Given the description of an element on the screen output the (x, y) to click on. 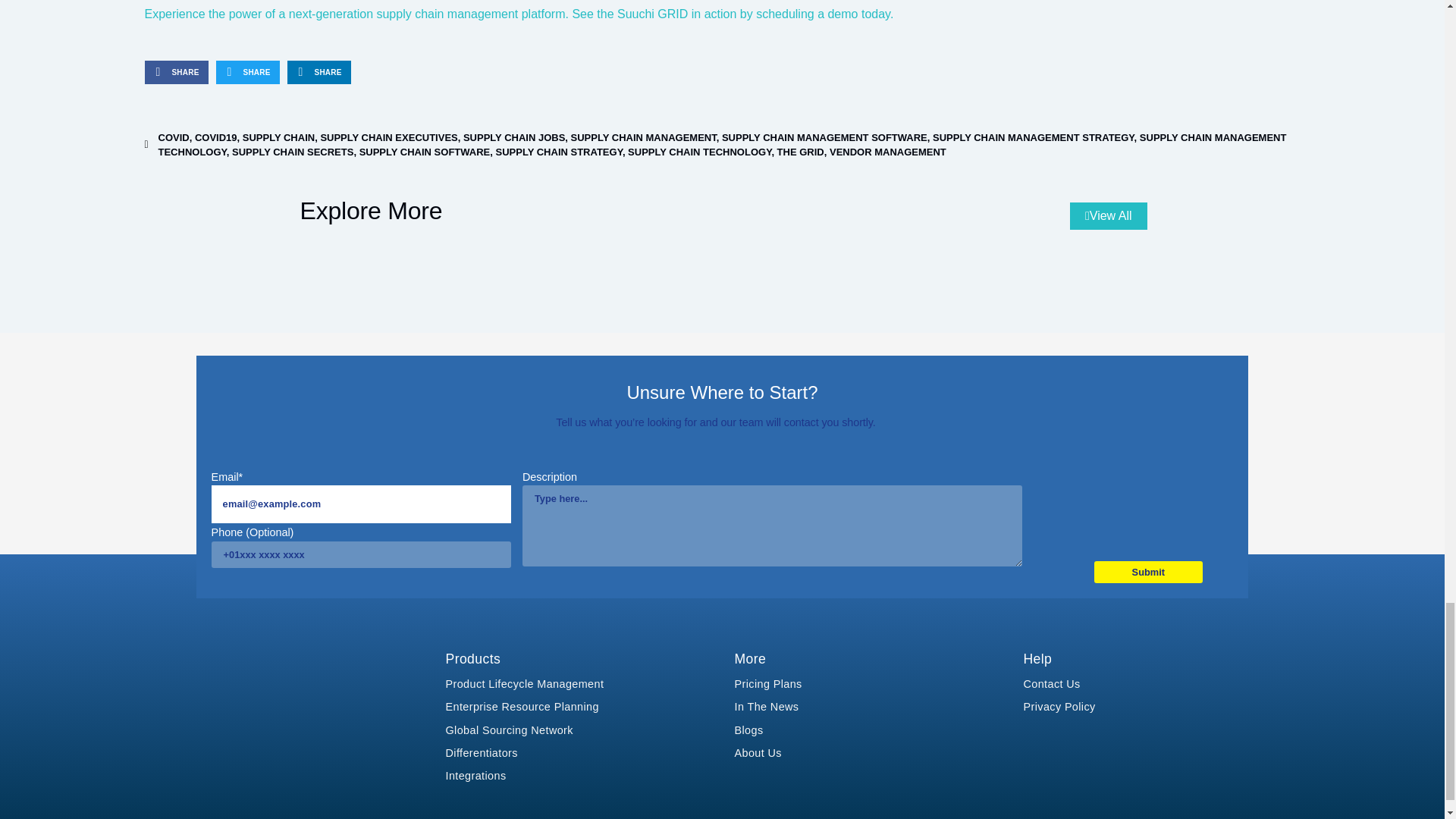
Submit (1148, 572)
